Given the description of an element on the screen output the (x, y) to click on. 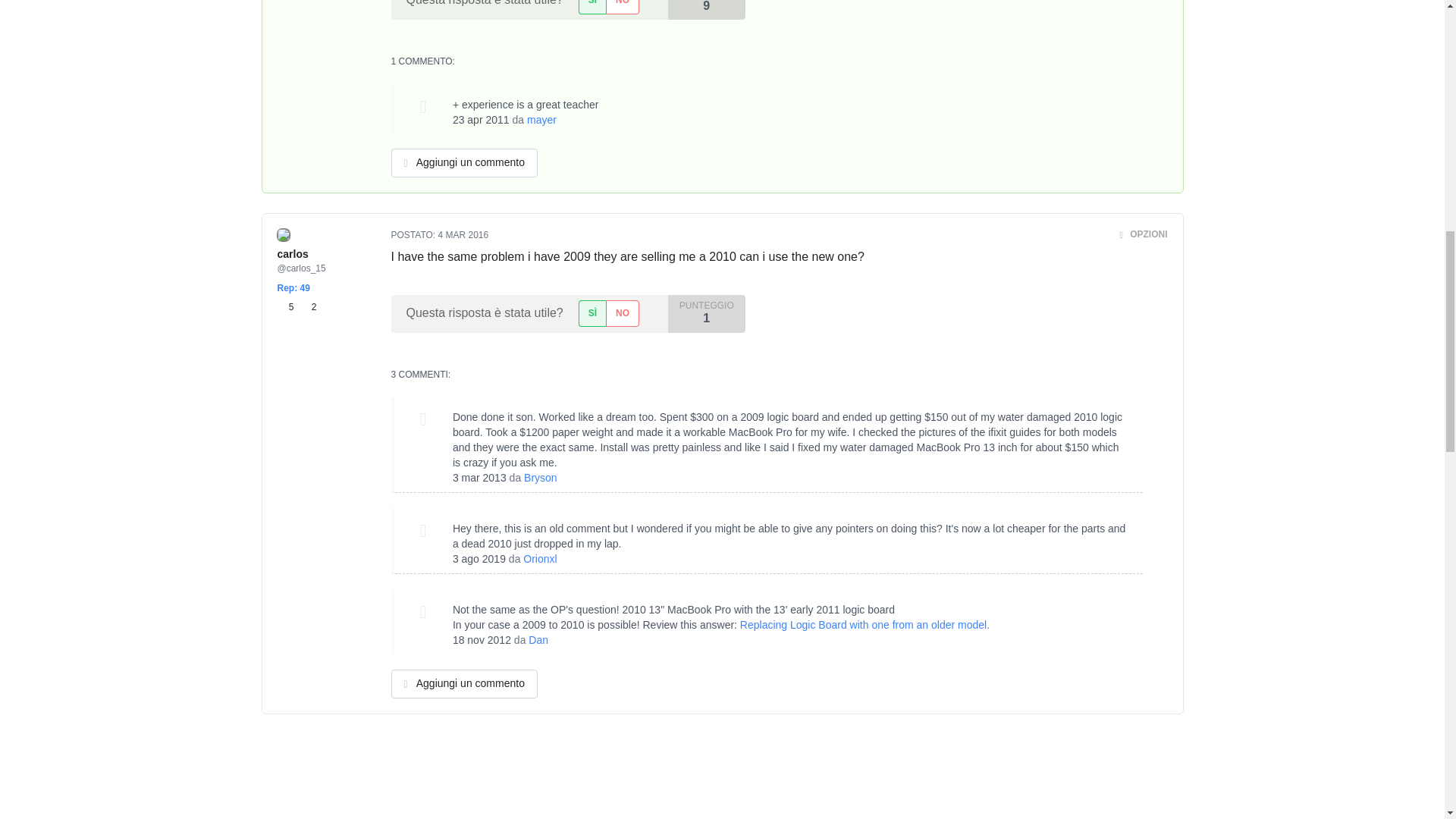
5 Bronzo distintivi (288, 307)
NO (622, 6)
mayer (541, 119)
2 Argento distintivi (308, 307)
Sun, 03 Mar 2013 19:13:40 -0700 (479, 477)
Fri, 04 Mar 2016 16:02:03 -0700 (463, 235)
Sun, 18 Nov 2012 08:56:06 -0700 (481, 639)
23 apr 2011 (480, 119)
Sat, 03 Aug 2019 07:50:31 -0700 (478, 558)
Sat, 23 Apr 2011 09:24:47 -0700 (480, 119)
